Given the description of an element on the screen output the (x, y) to click on. 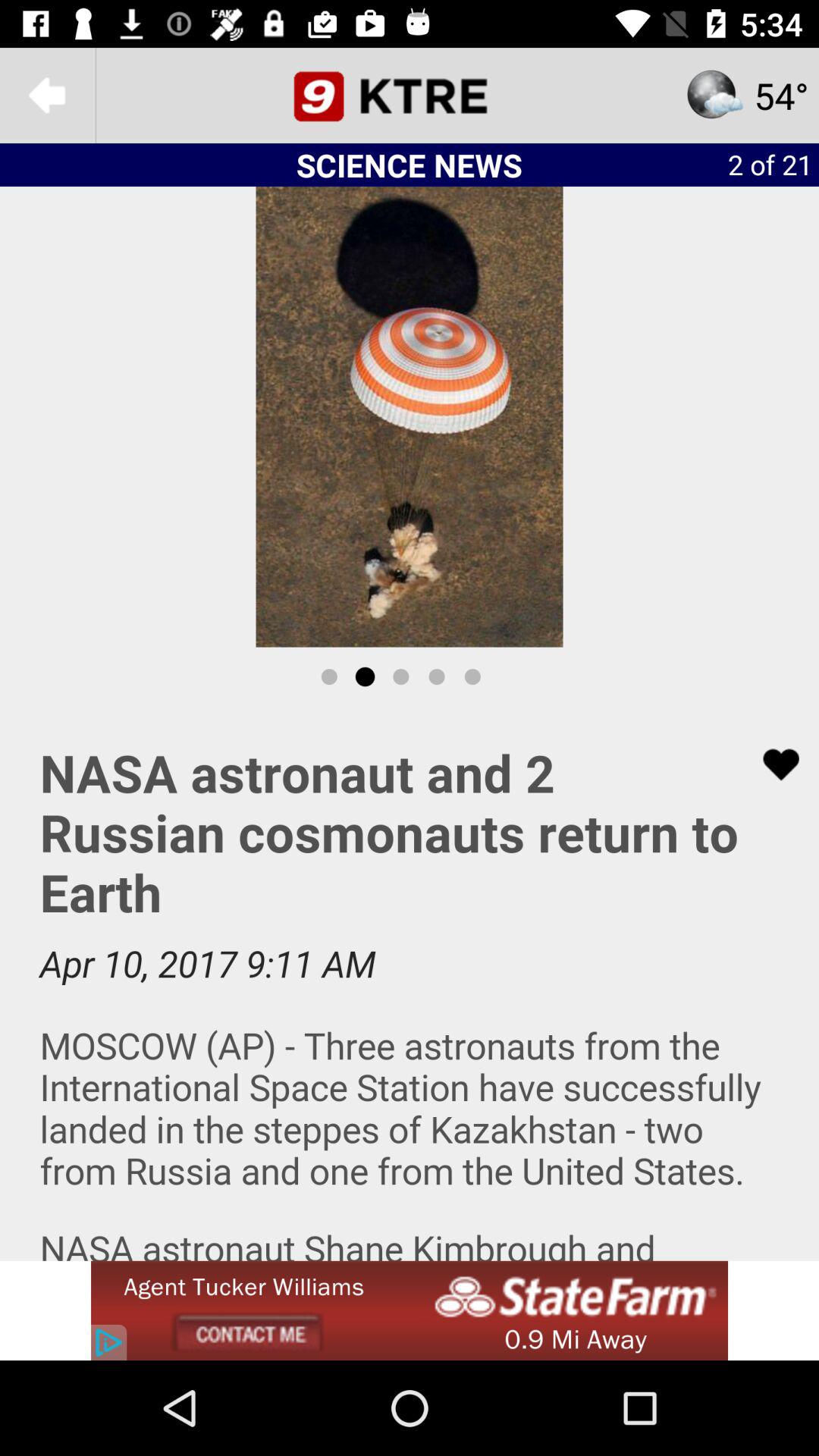
news page (409, 95)
